Given the description of an element on the screen output the (x, y) to click on. 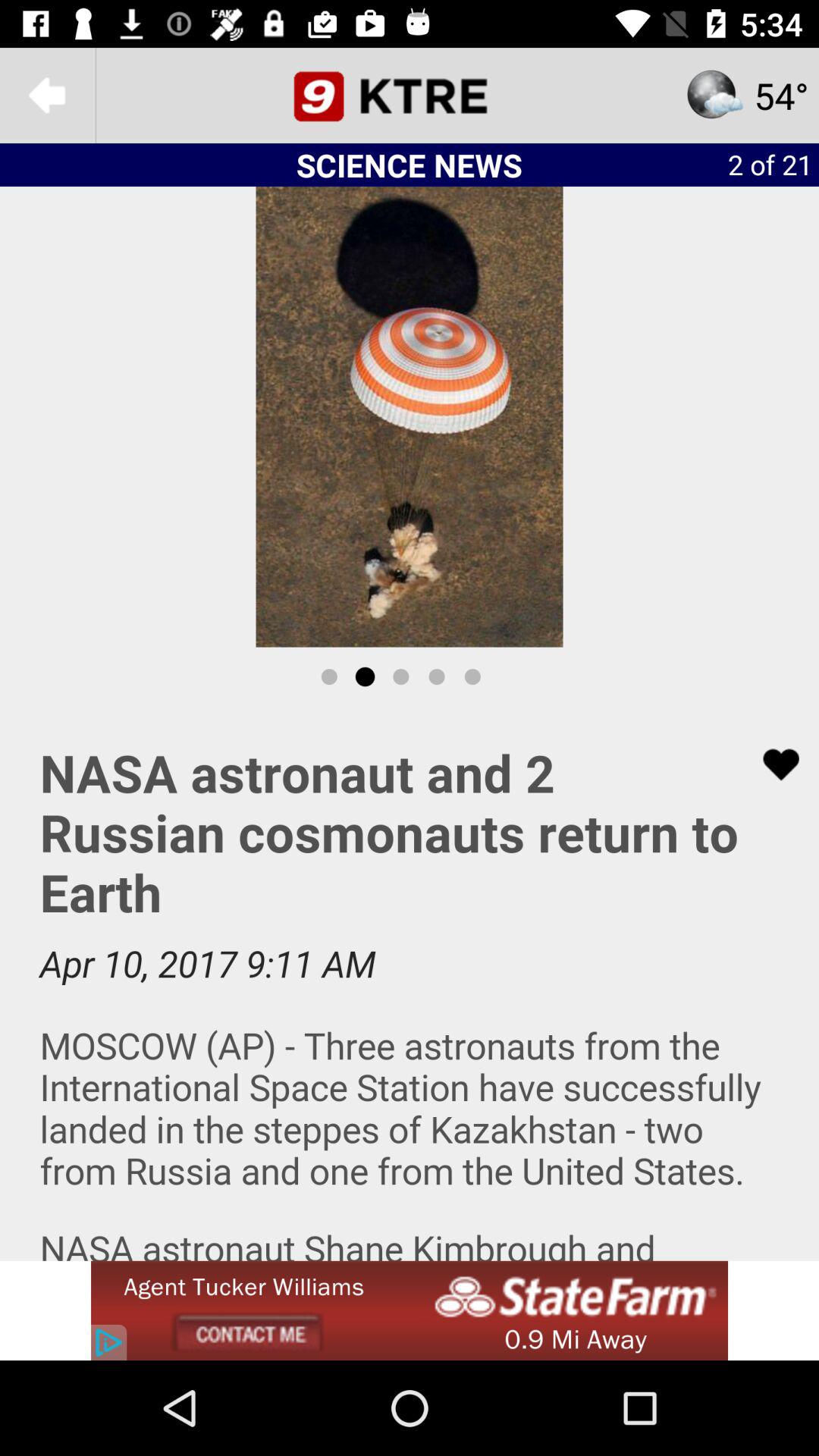
news page (409, 95)
